Given the description of an element on the screen output the (x, y) to click on. 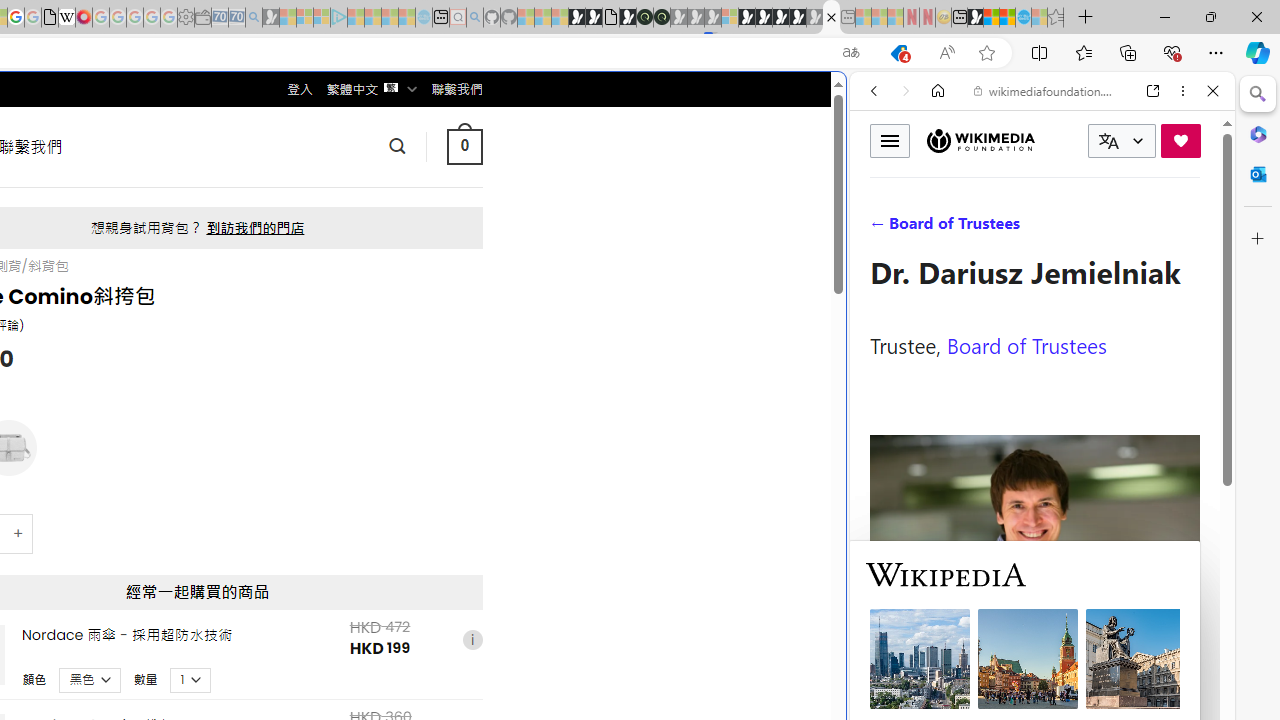
This site has coupons! Shopping in Microsoft Edge, 4 (898, 53)
